Given the description of an element on the screen output the (x, y) to click on. 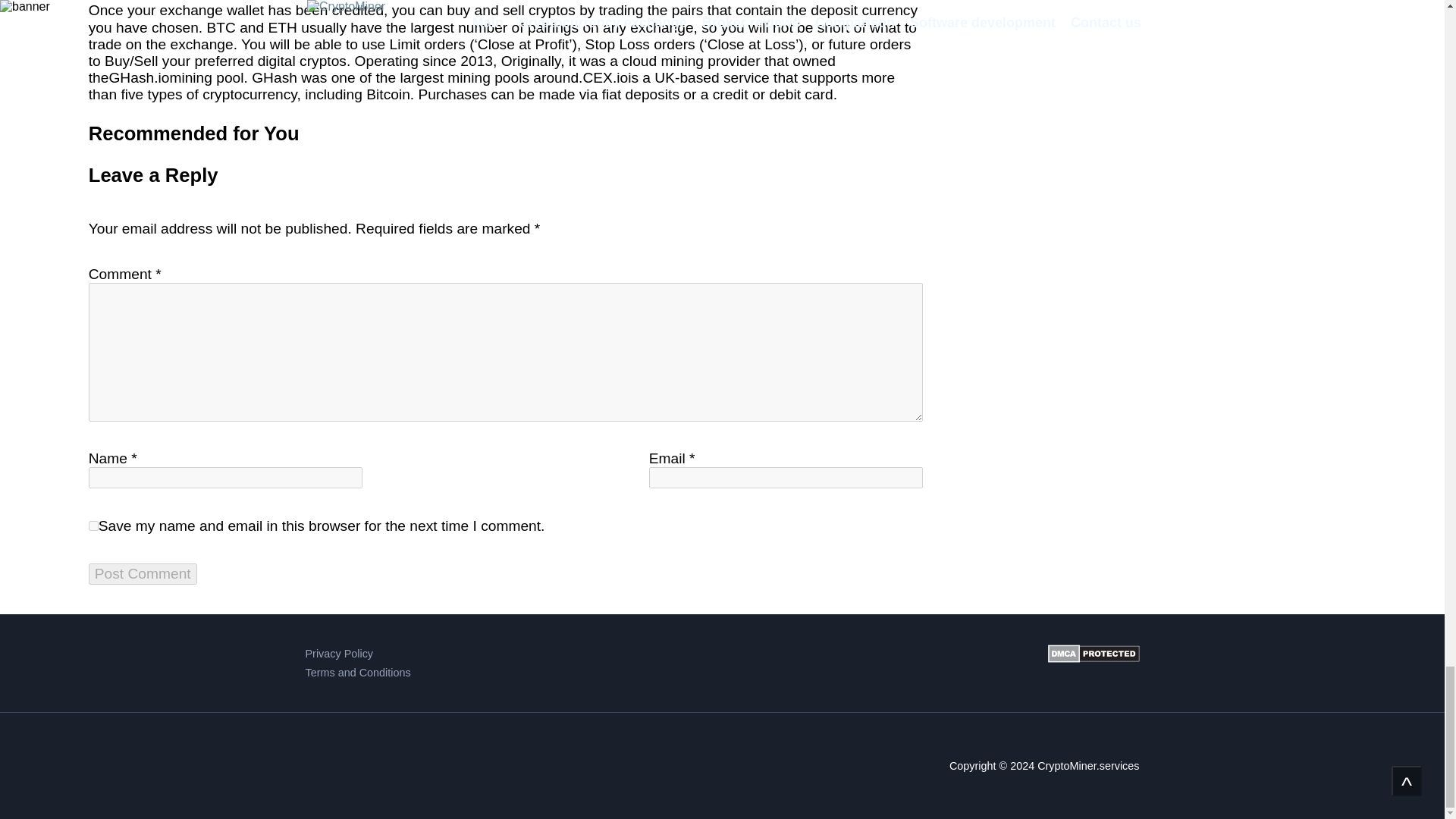
Post Comment (142, 573)
yes (93, 525)
DMCA.com Protection Status (1094, 662)
